Given the description of an element on the screen output the (x, y) to click on. 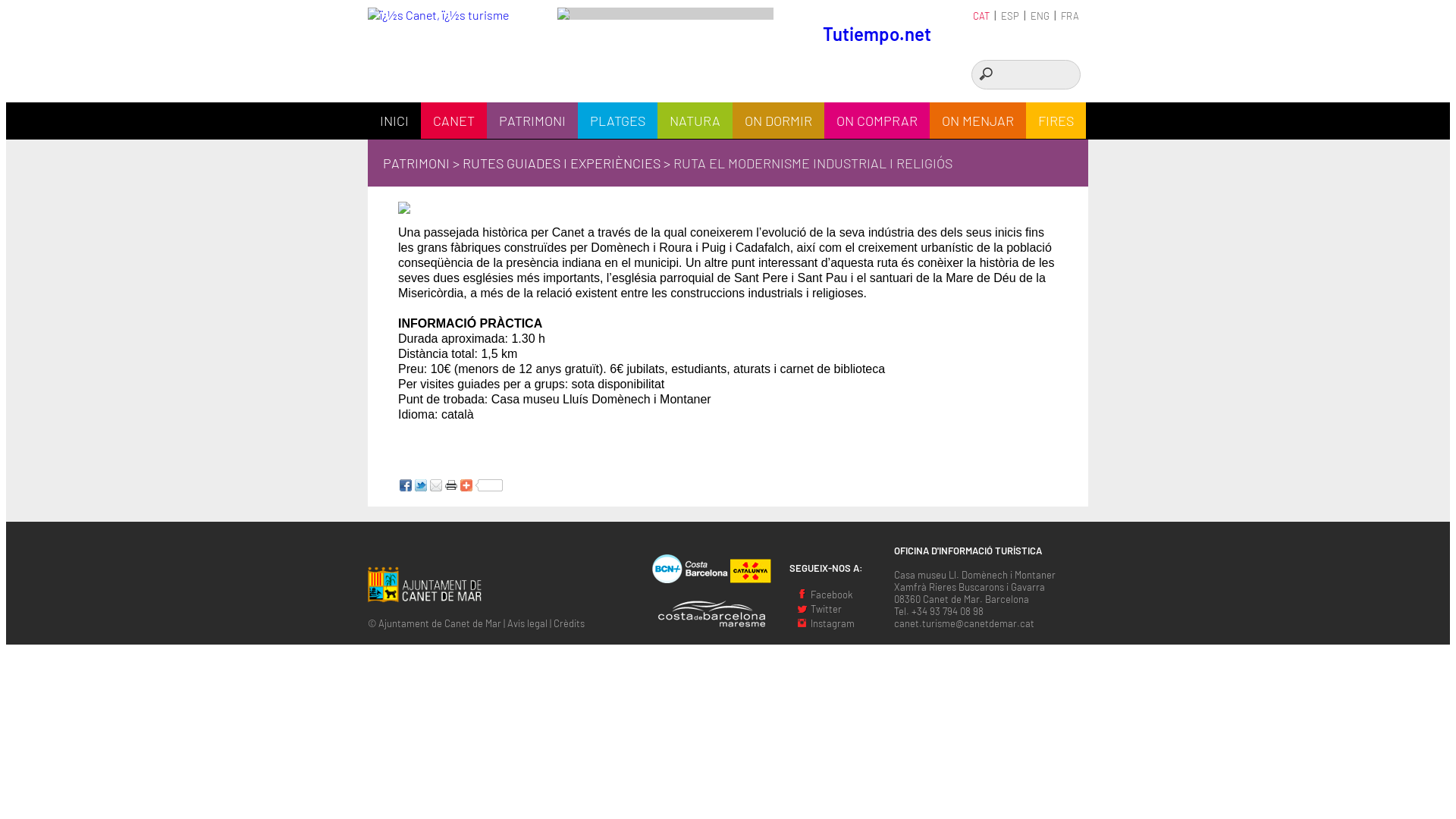
PATRIMONI Element type: text (531, 120)
canet.turisme@canetdemar.cat Element type: text (964, 622)
ESP Element type: text (1010, 14)
Tutiempo.net Element type: text (876, 33)
FIRES Element type: text (1055, 120)
Twitter Element type: text (818, 607)
ON COMPRAR Element type: text (876, 120)
FRA Element type: text (1069, 14)
PLATGES Element type: text (617, 120)
NATURA Element type: text (694, 120)
Instagram Element type: text (825, 622)
Tweet This Element type: hover (420, 485)
Facebook Element type: text (824, 593)
ON DORMIR Element type: text (778, 120)
ENG Element type: text (1039, 14)
INICI Element type: text (393, 120)
Print Element type: hover (450, 485)
Email Element type: hover (435, 485)
CANET Element type: text (453, 120)
ON MENJAR Element type: text (977, 120)
Send to Facebook Element type: hover (405, 485)
